Given the description of an element on the screen output the (x, y) to click on. 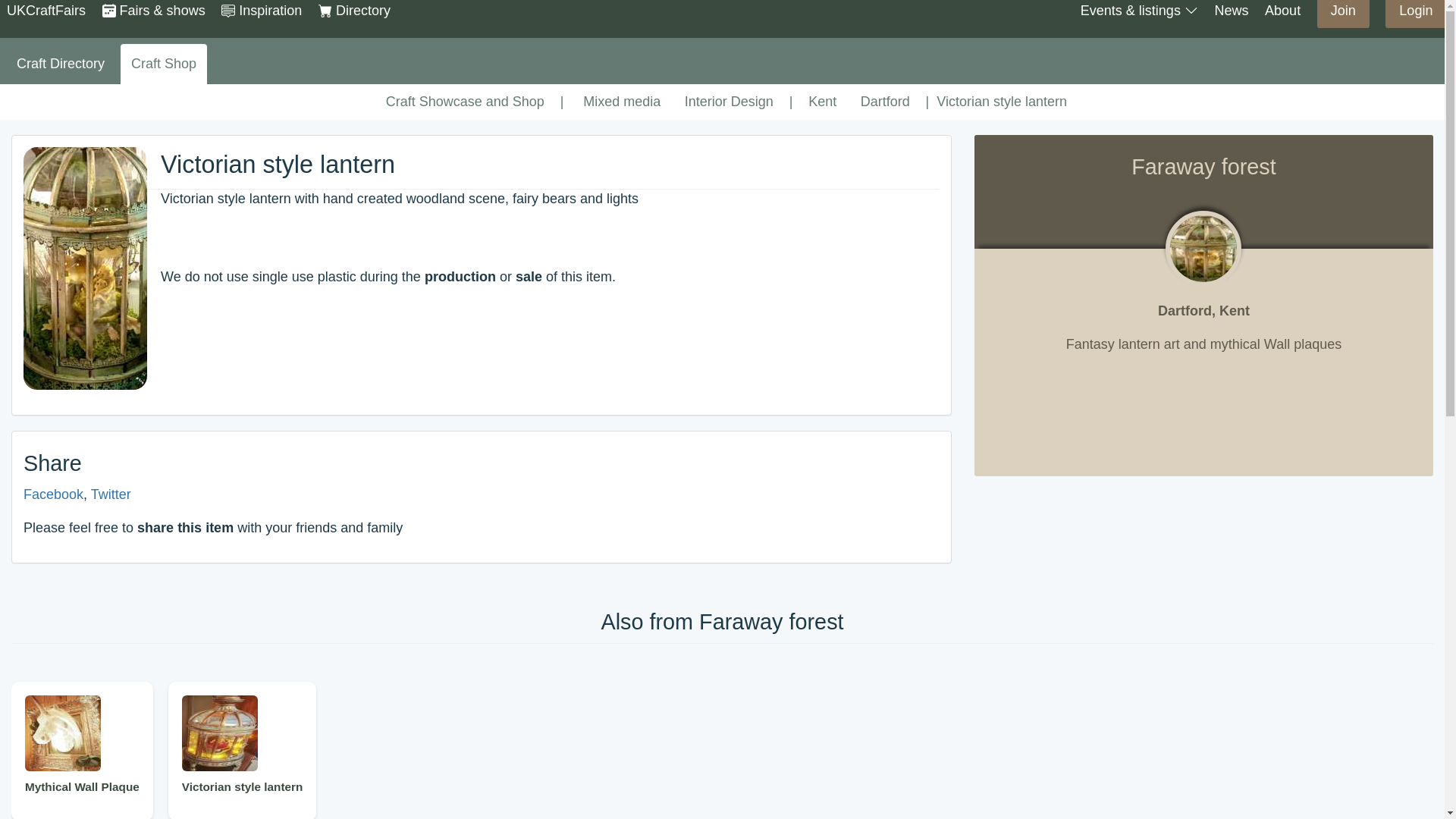
Inspiration (261, 10)
Craft Directory (60, 64)
Join (1343, 10)
Craft Showcase and Shop (465, 101)
About (1282, 10)
UKCraftFairs (46, 10)
Search the craft blogs and gain inspiration (261, 10)
Get the latest news with Craft Weekly (1230, 10)
Directory (354, 10)
Join (1343, 13)
Faraway forest (1203, 248)
Facebook (52, 494)
Dartford (884, 101)
Mythical Wall Plaque (81, 750)
Mixed media (621, 101)
